Given the description of an element on the screen output the (x, y) to click on. 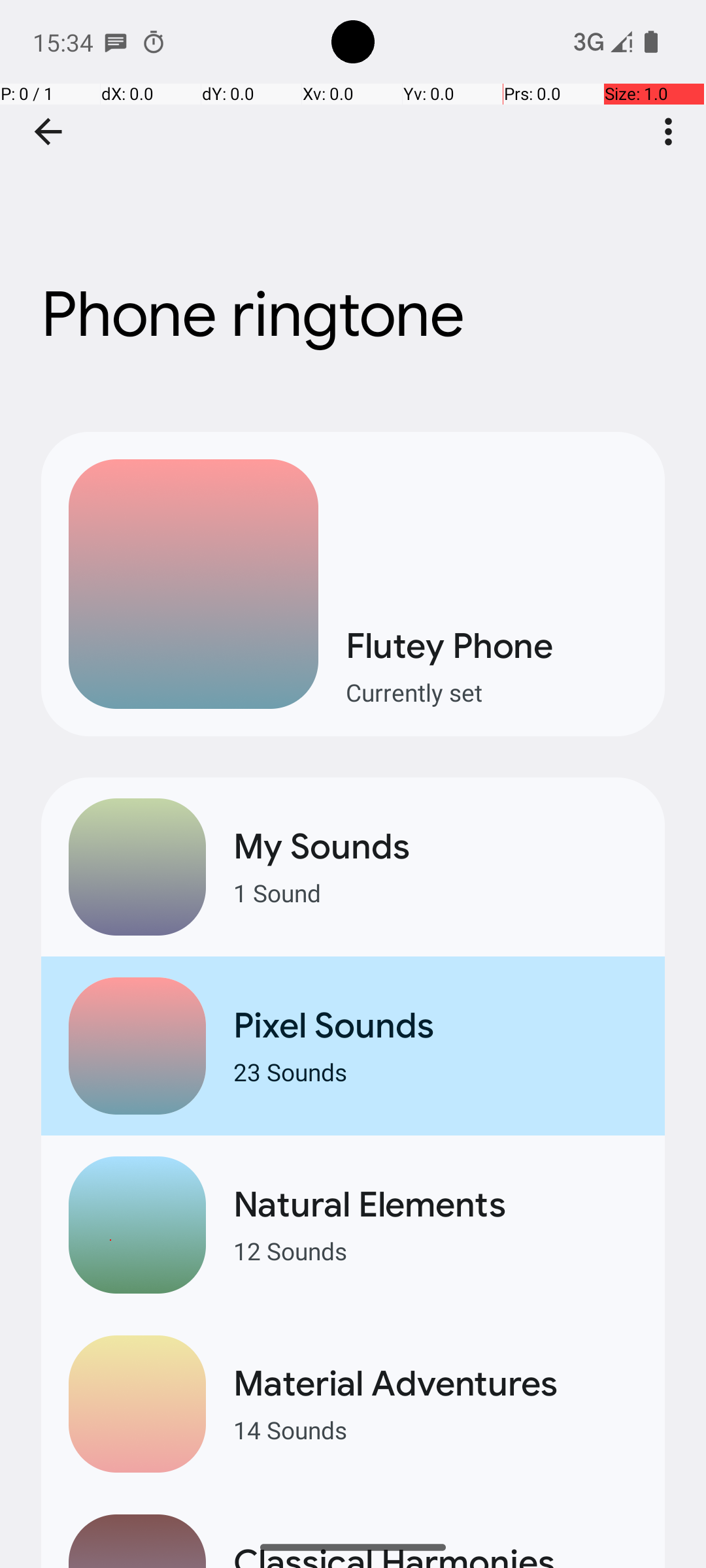
Currently set Element type: android.widget.TextView (491, 691)
My Sounds Element type: android.widget.TextView (435, 846)
1 Sound Element type: android.widget.TextView (435, 892)
23 Sounds Element type: android.widget.TextView (435, 1071)
Natural Elements Element type: android.widget.TextView (435, 1204)
Material Adventures Element type: android.widget.TextView (435, 1383)
14 Sounds Element type: android.widget.TextView (435, 1429)
